Given the description of an element on the screen output the (x, y) to click on. 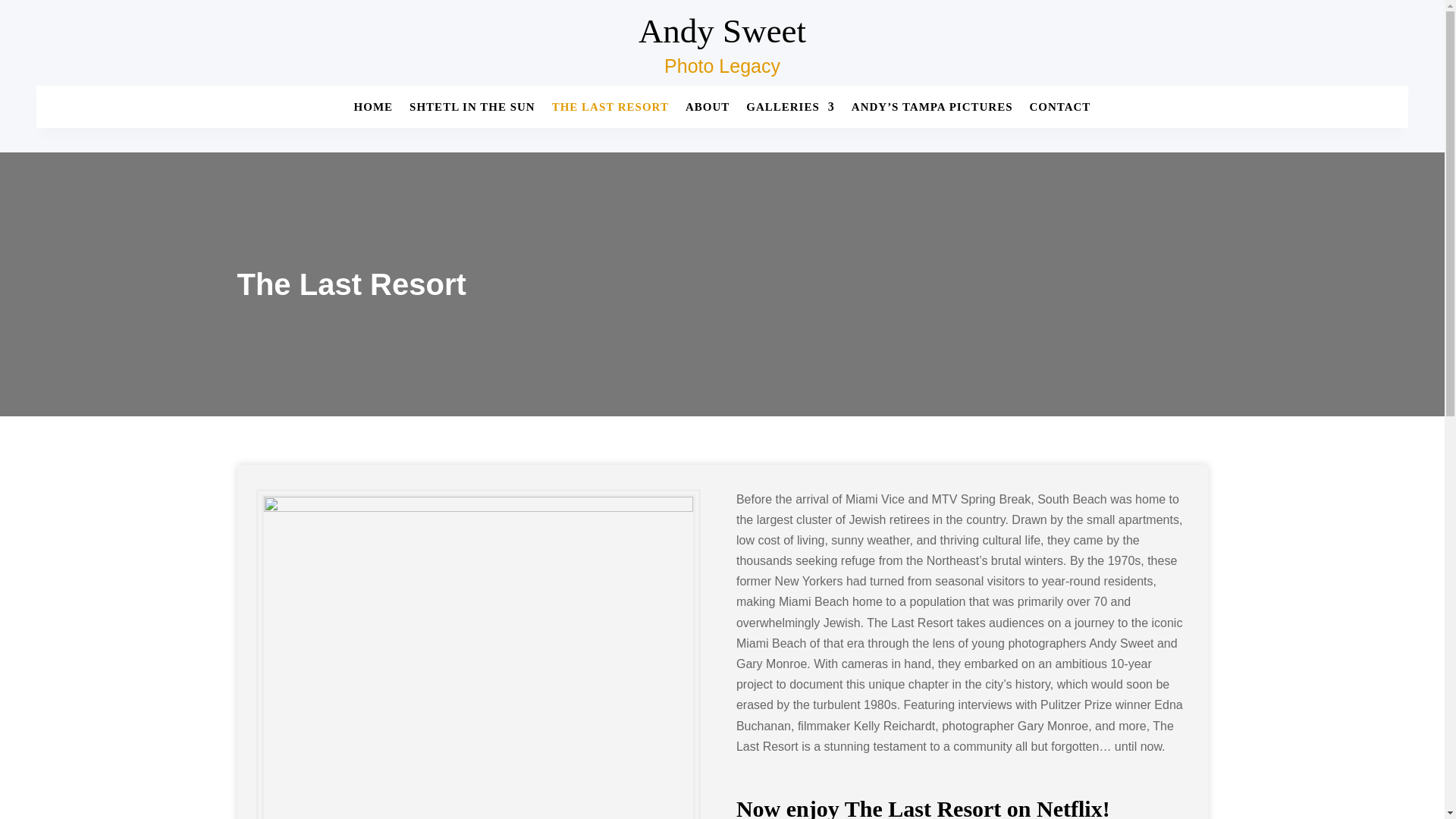
ABOUT (707, 109)
THE LAST RESORT (609, 109)
HOME (373, 109)
SHTETL IN THE SUN (472, 109)
GALLERIES (789, 109)
CONTACT (1059, 109)
